Given the description of an element on the screen output the (x, y) to click on. 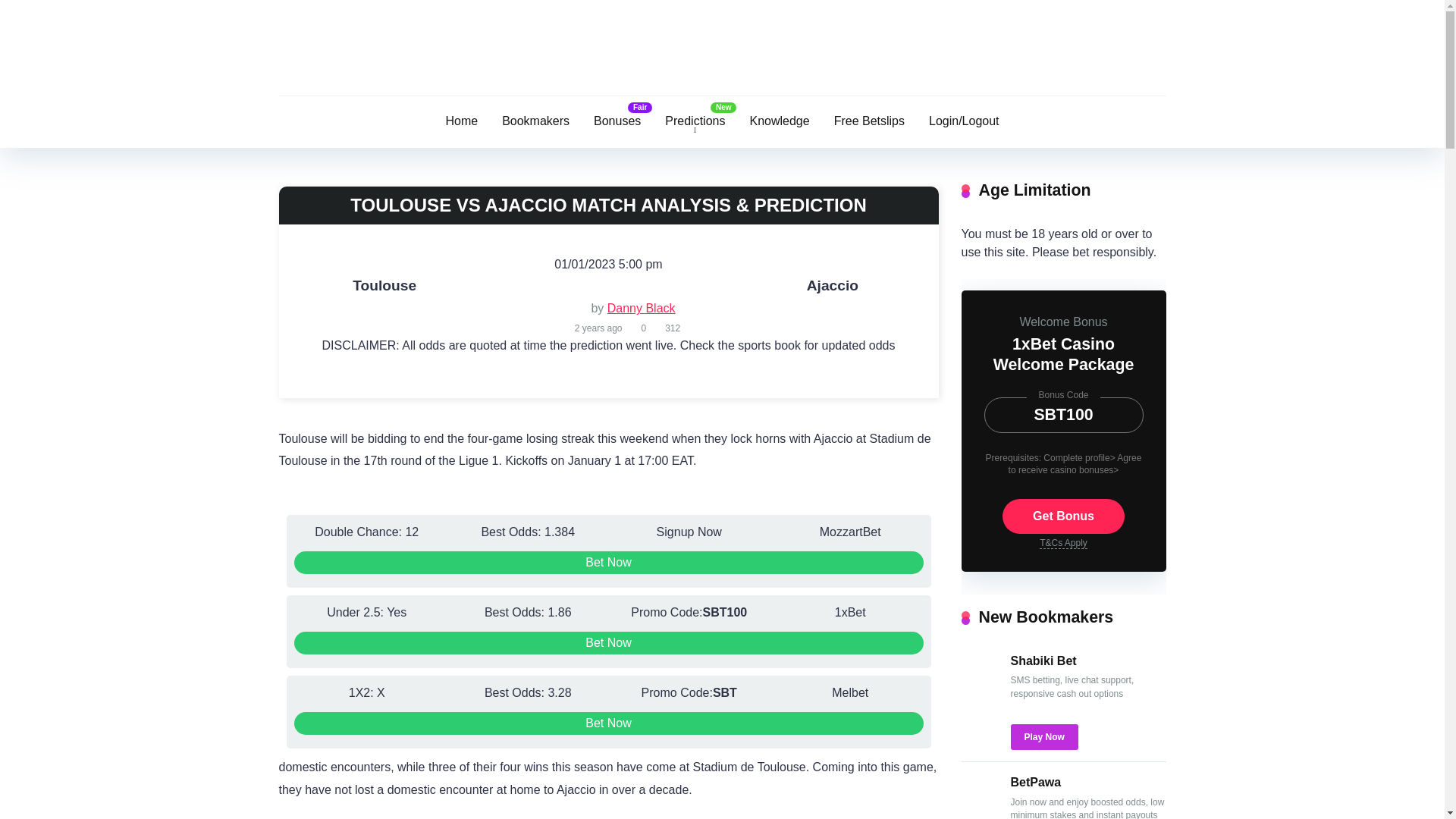
Free Betslips (869, 122)
Get Bonus (1063, 515)
Posts by Danny Black (641, 308)
1xBet Casino Welcome Package (1063, 353)
Shabiki Bet (979, 689)
Bet Now (608, 722)
Welcome Bonus (1062, 321)
Sports Betting Tricks (722, 55)
1xBet Casino Welcome Package (1063, 353)
BetPawa (979, 810)
Home (460, 122)
Welcome Bonus (1062, 321)
BetPawa (1035, 781)
Bet Now (608, 562)
Danny Black (641, 308)
